Given the description of an element on the screen output the (x, y) to click on. 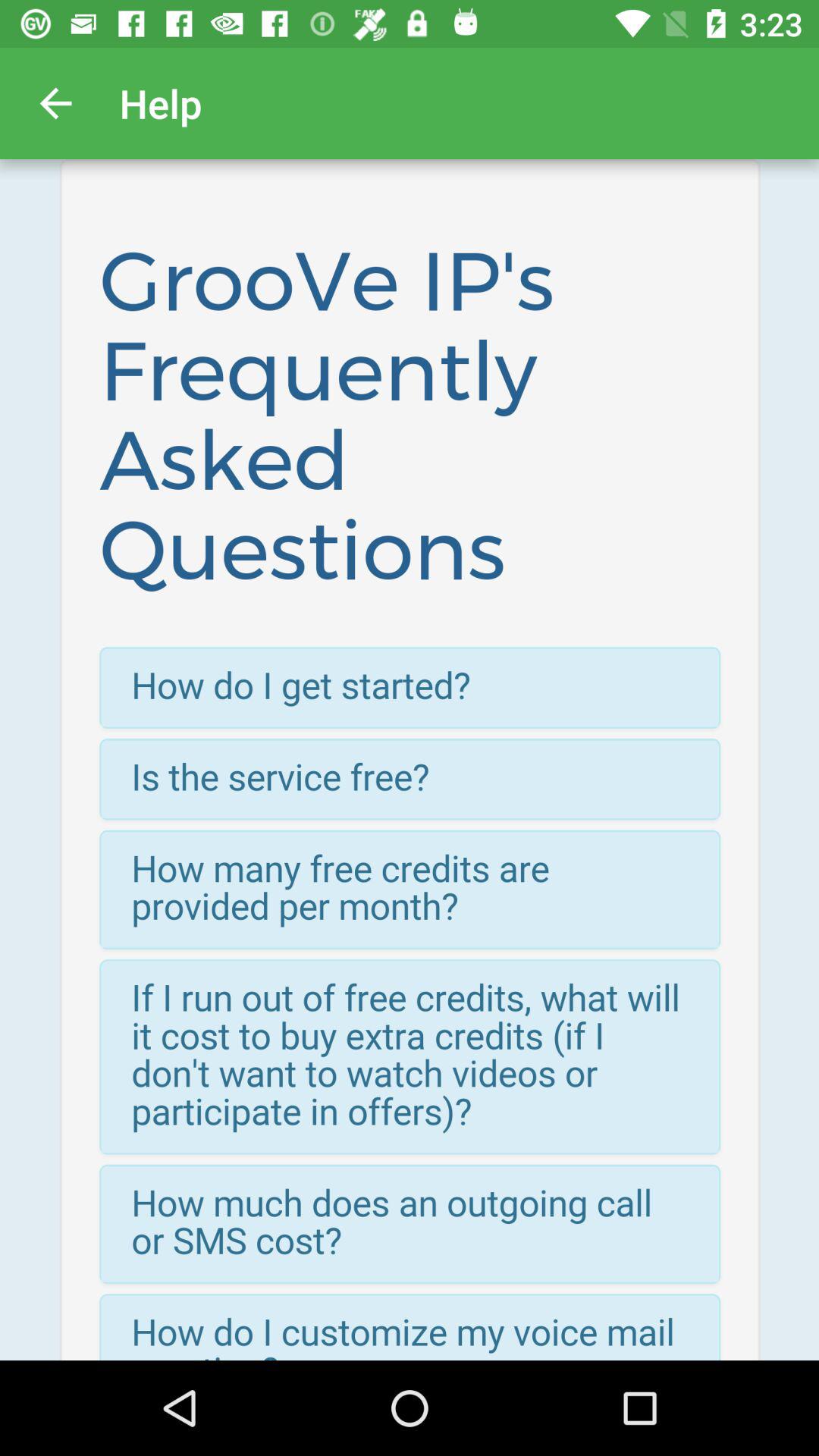
advertisement (409, 759)
